Given the description of an element on the screen output the (x, y) to click on. 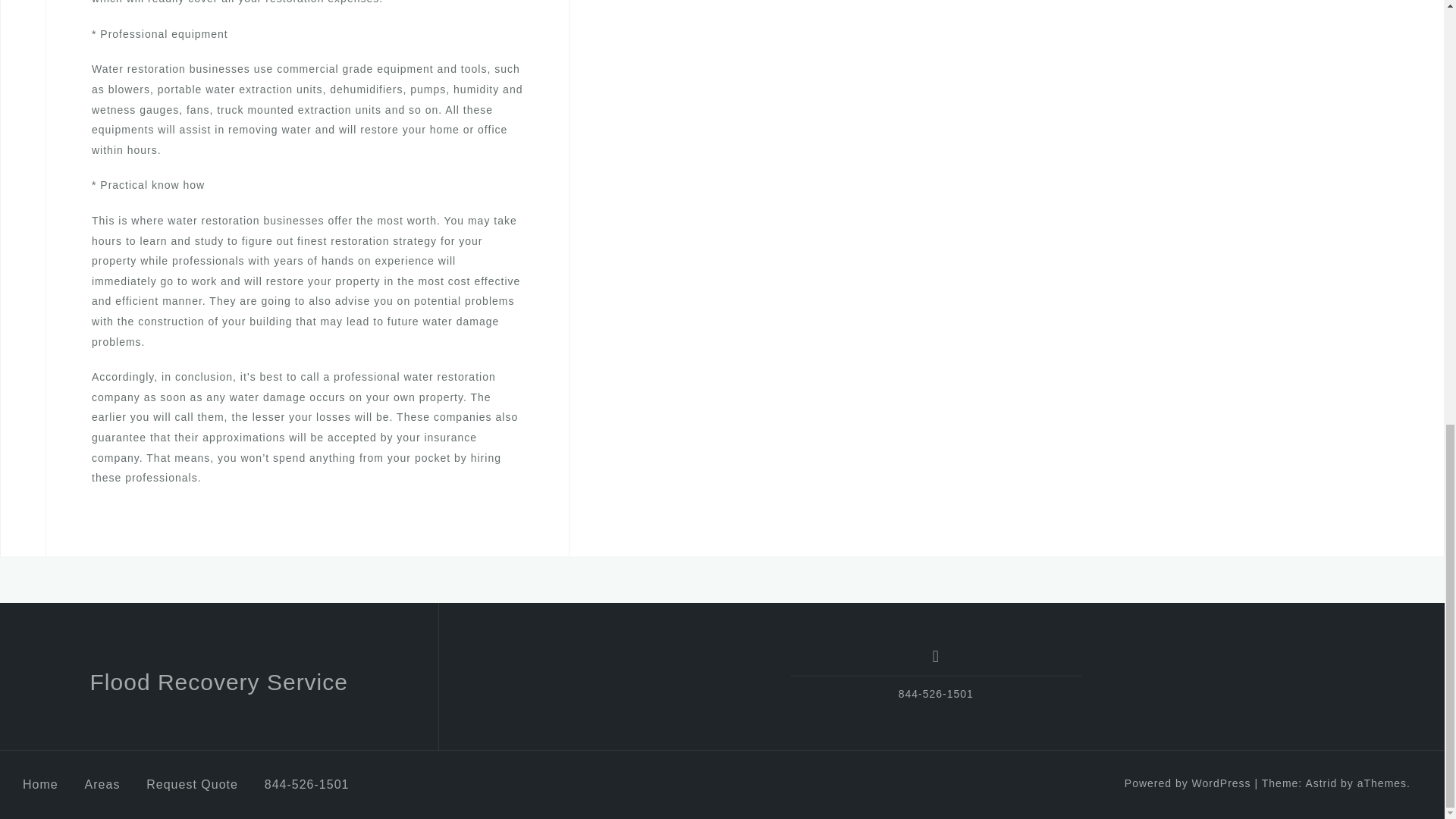
Flood Recovery Service (218, 681)
Areas (102, 784)
Powered by WordPress (1187, 783)
Home (40, 784)
Astrid (1320, 783)
844-526-1501 (306, 784)
Request Quote (192, 784)
